Given the description of an element on the screen output the (x, y) to click on. 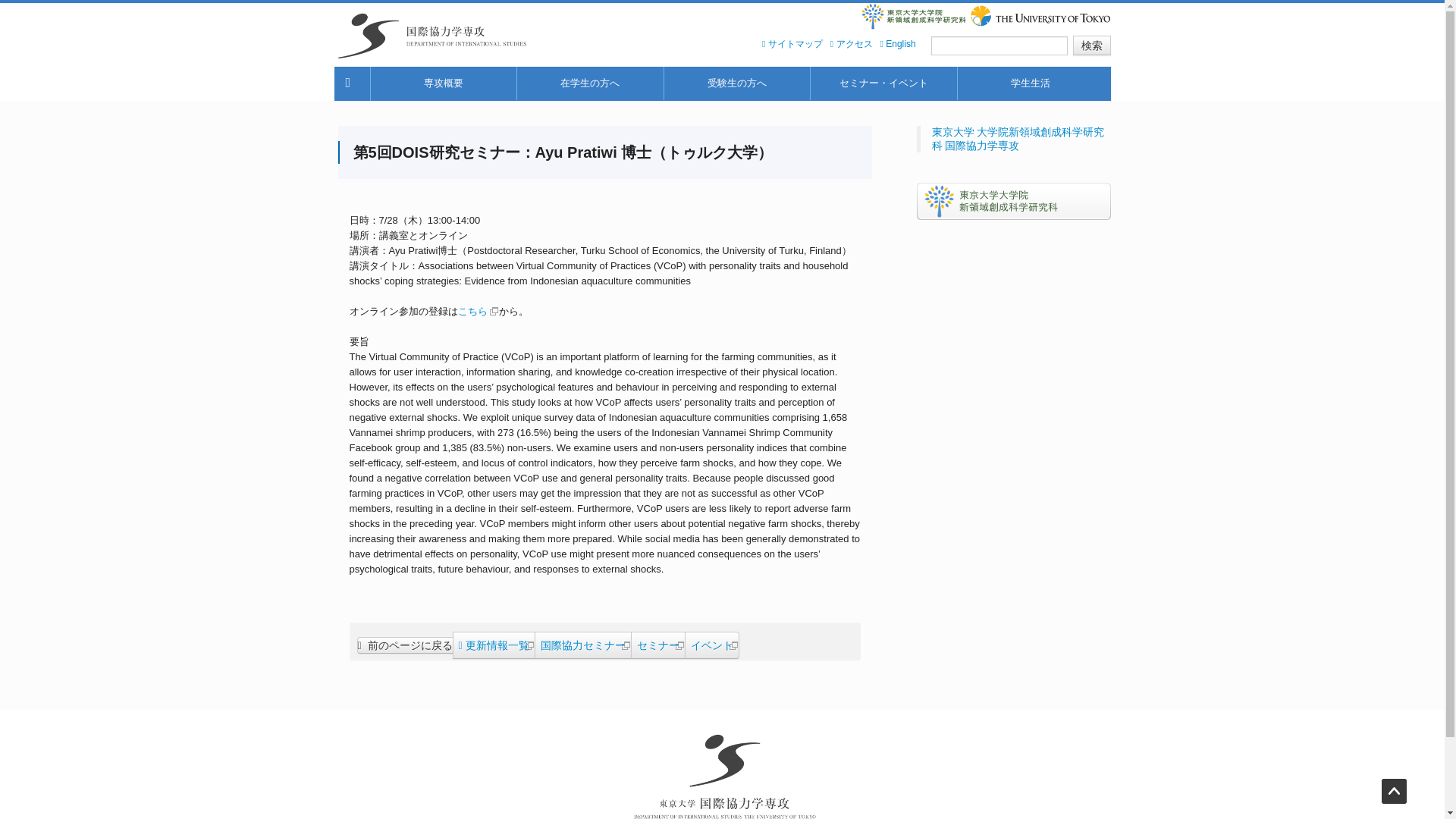
English (897, 43)
